Given the description of an element on the screen output the (x, y) to click on. 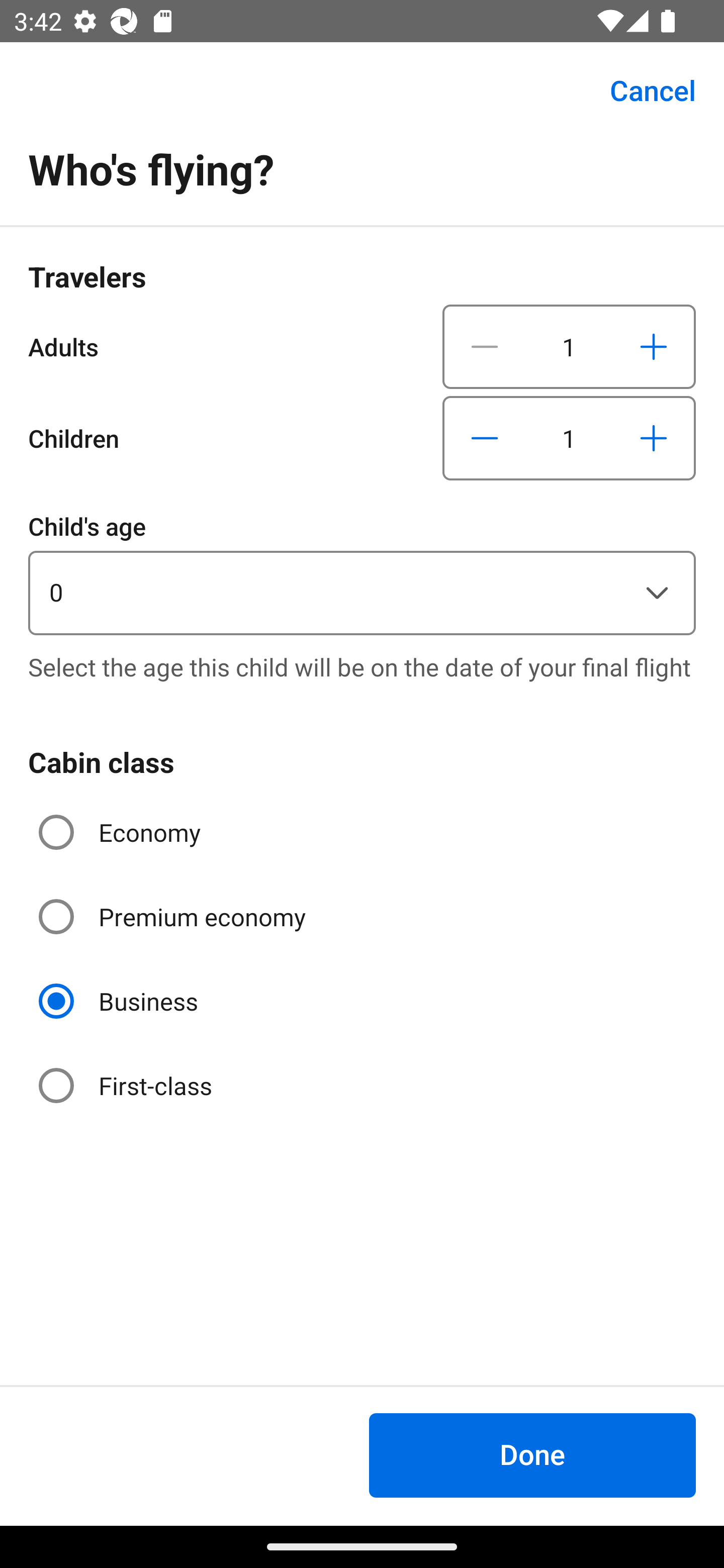
Cancel (641, 90)
Decrease (484, 346)
Increase (653, 346)
Decrease (484, 437)
Increase (653, 437)
Child's age
 Child's age 0 (361, 571)
Economy (121, 832)
Premium economy (174, 916)
Business (120, 1000)
First-class (126, 1084)
Done (532, 1454)
